Given the description of an element on the screen output the (x, y) to click on. 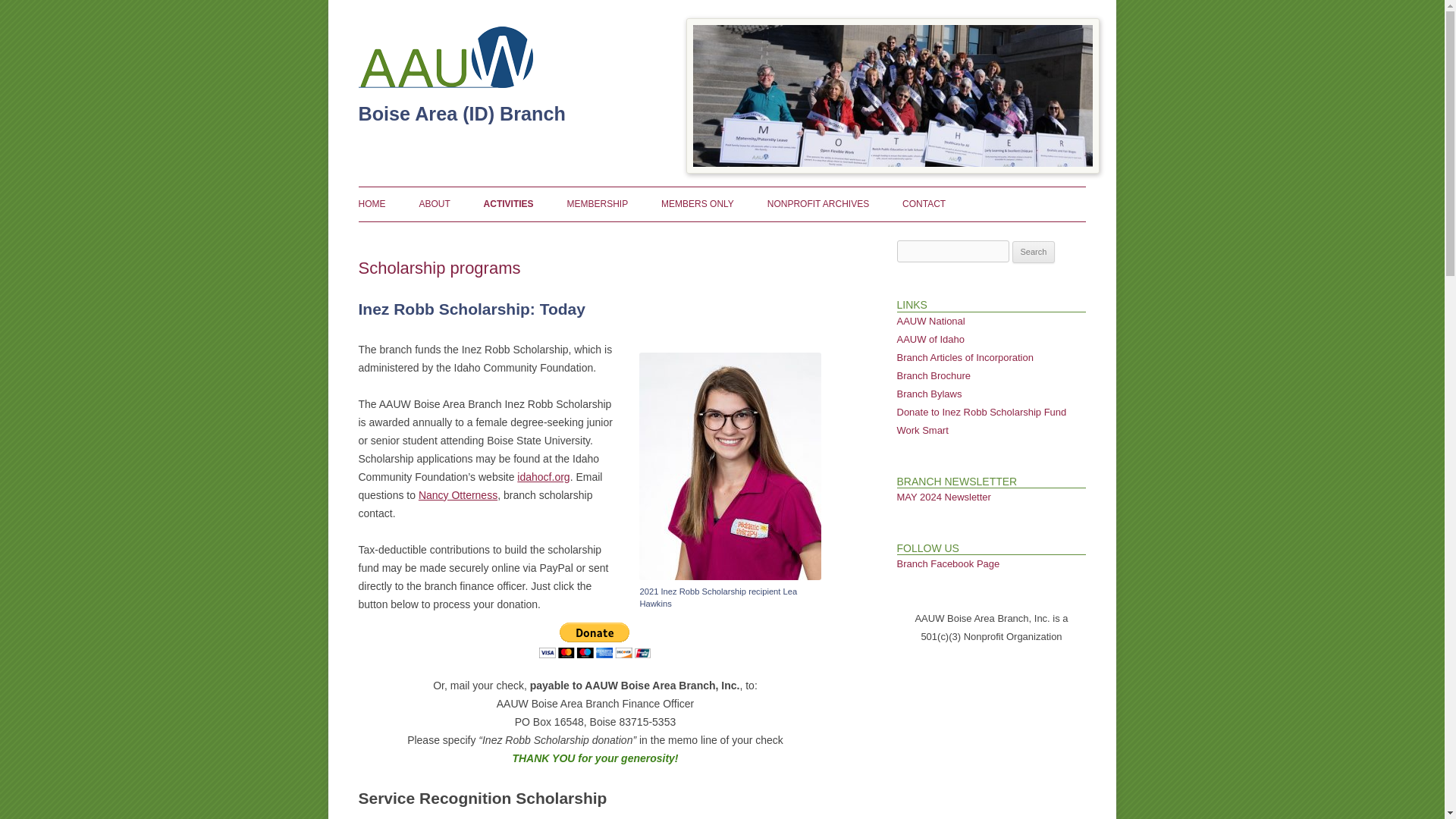
Branch Brochure (932, 375)
May 2024 Newsletter (943, 496)
Branch Bylaws (928, 393)
AAUW of Idaho (929, 338)
NONPROFIT ARCHIVES (818, 203)
Nancy Otterness (458, 494)
Branch Articles of Incorporation (964, 357)
MEMBERS ONLY (697, 203)
AAUW National (929, 320)
ACTIVITIES (508, 203)
MEMBERSHIP (596, 203)
Search (1033, 251)
Salary Negotiation Tools (921, 430)
idahocf.org (542, 476)
Donate to Inez Robb Scholarship Fund (980, 411)
